Given the description of an element on the screen output the (x, y) to click on. 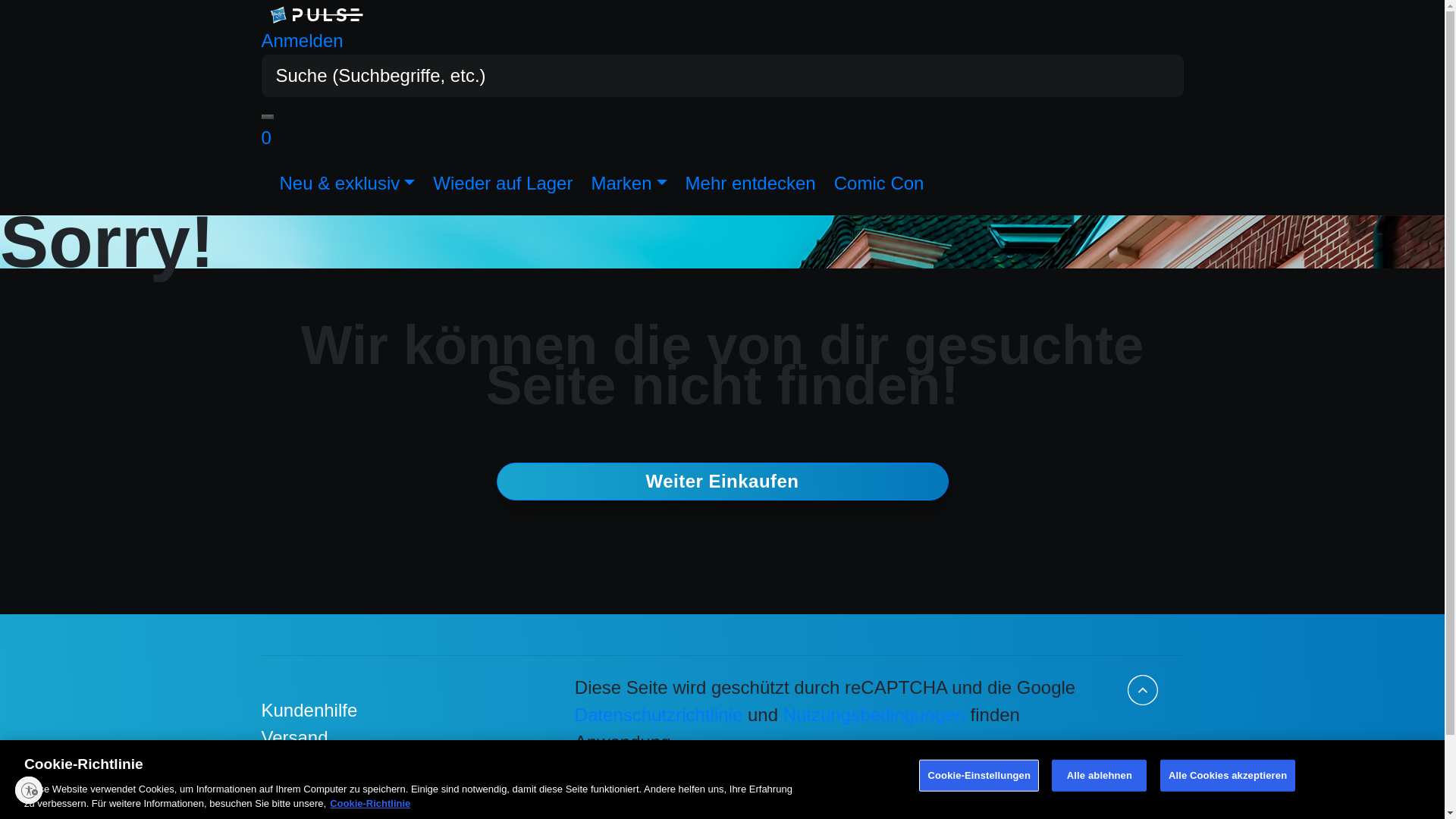
Anmelden (301, 40)
Wieder auf Lager (501, 183)
Marken (627, 183)
Hoch (1141, 689)
Barrierefreiheit aktivieren (28, 789)
Commerce Cloud Storefront Referenzarchitektur Home (315, 13)
